Given the description of an element on the screen output the (x, y) to click on. 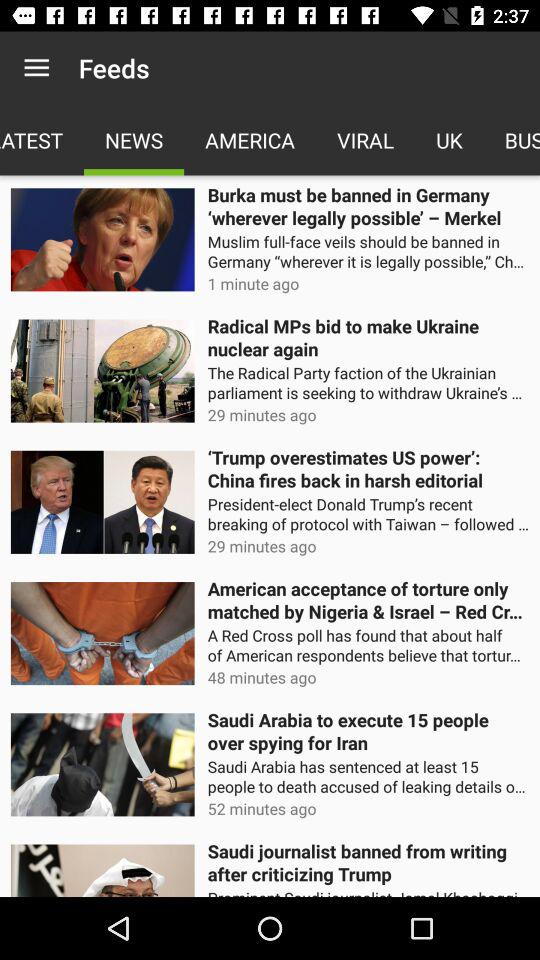
scroll until the business icon (511, 140)
